Given the description of an element on the screen output the (x, y) to click on. 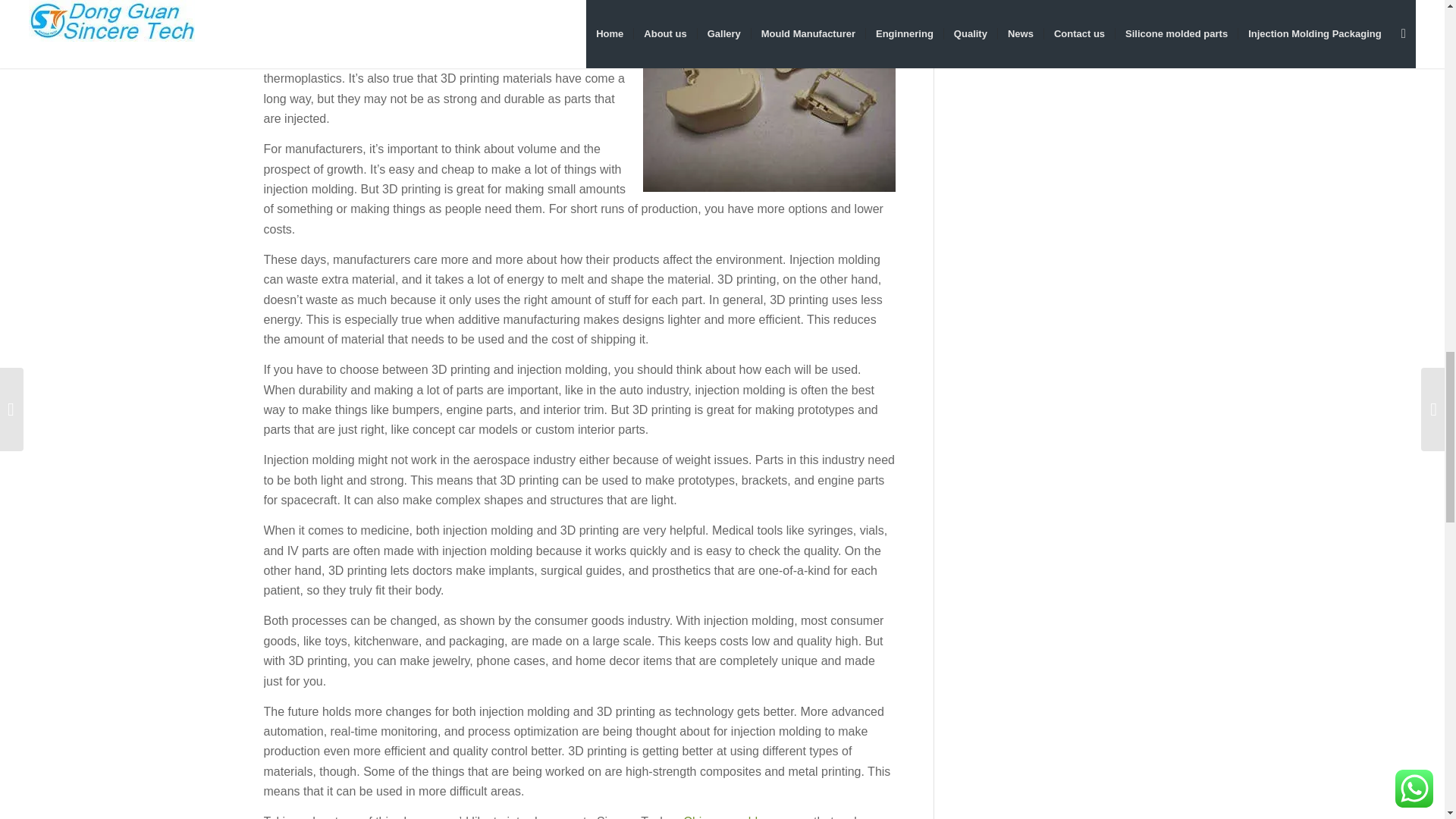
Chinese mold company (745, 816)
